Given the description of an element on the screen output the (x, y) to click on. 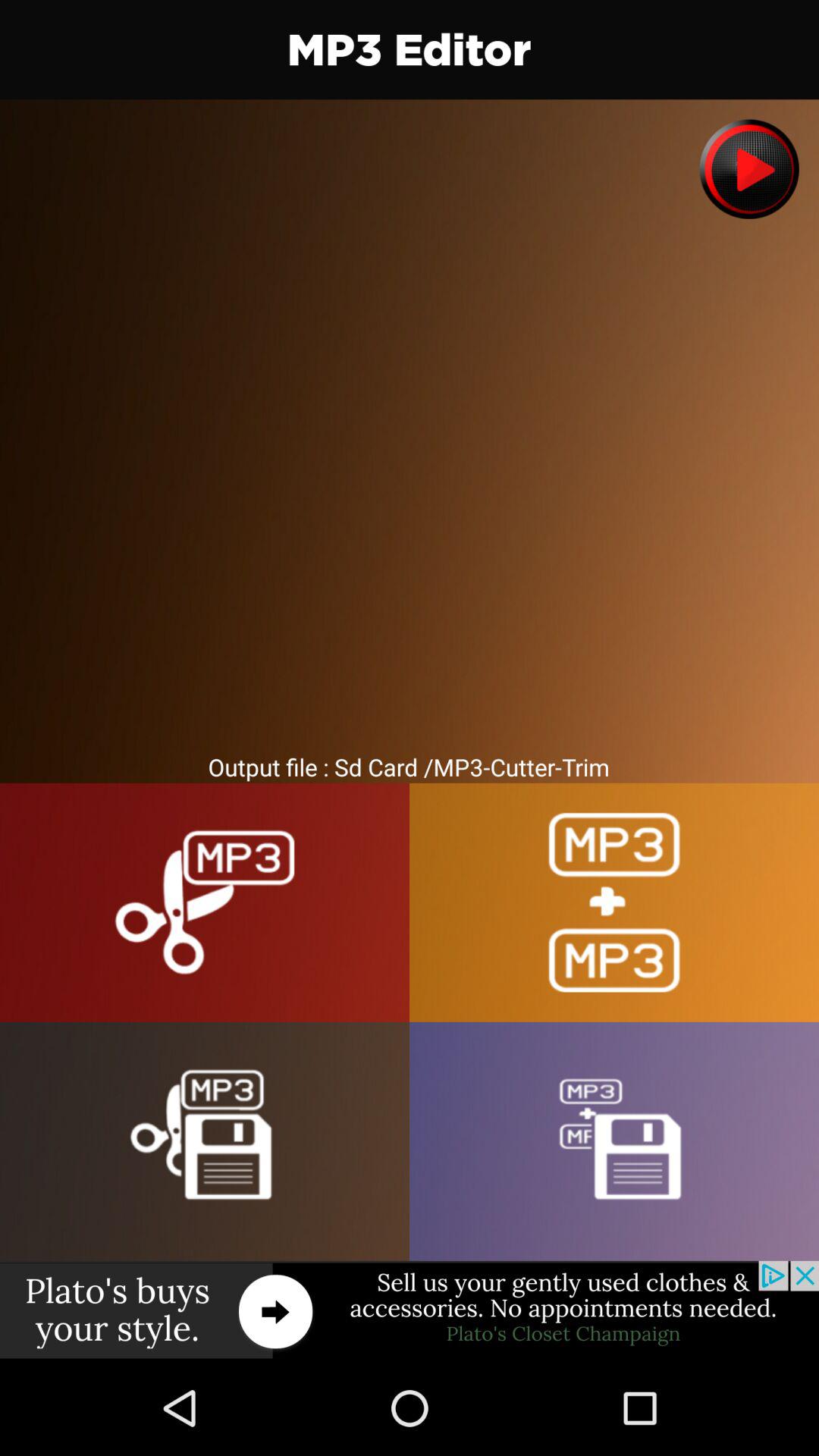
press mp3 save option (204, 1141)
